Given the description of an element on the screen output the (x, y) to click on. 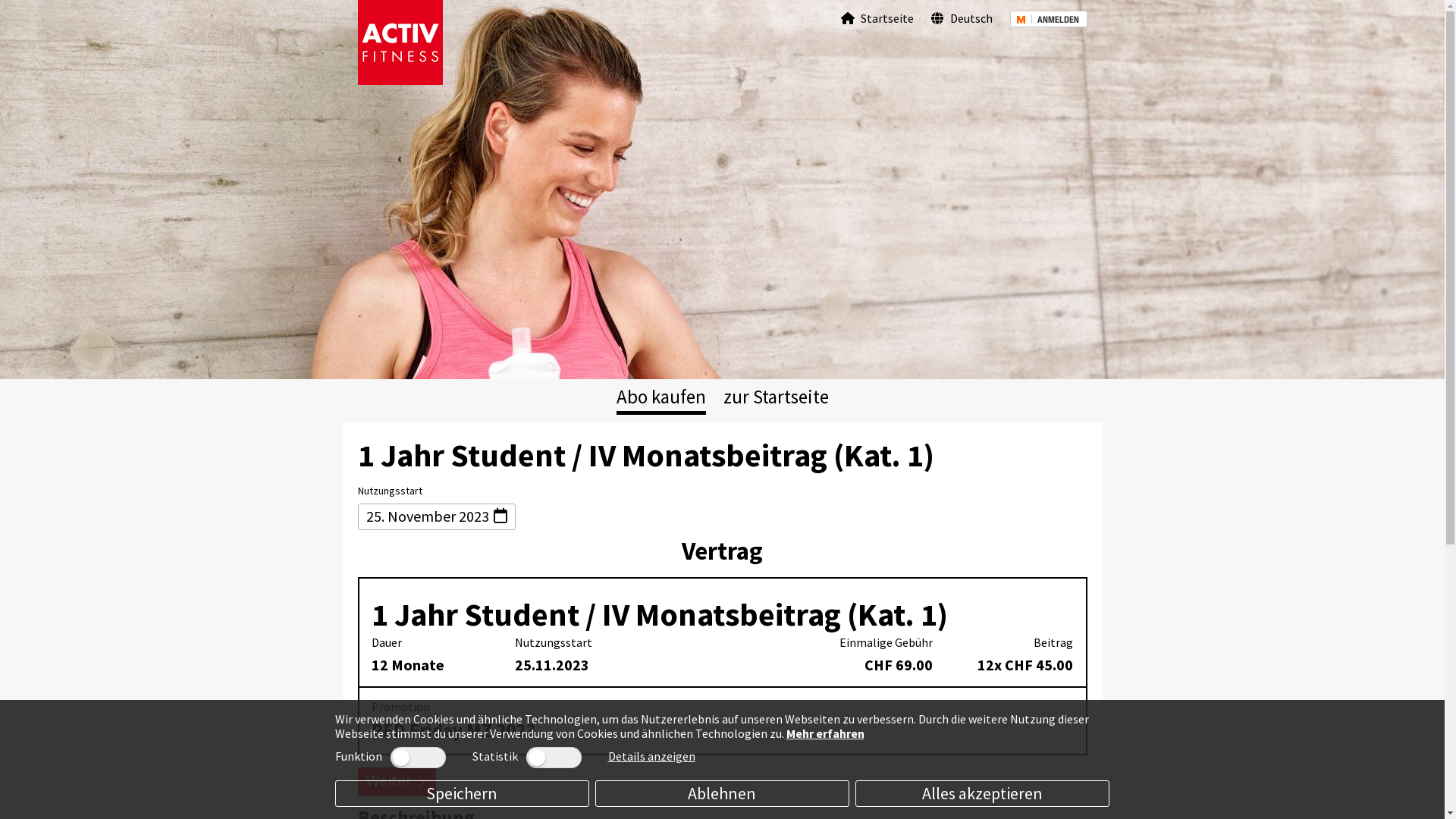
Details anzeigen Element type: text (651, 755)
zur Startseite Element type: text (775, 396)
Startseite Element type: text (876, 18)
Abo kaufen Element type: text (660, 396)
Mehr erfahren Element type: text (824, 732)
ANMELDEN Element type: text (1048, 18)
